Given the description of an element on the screen output the (x, y) to click on. 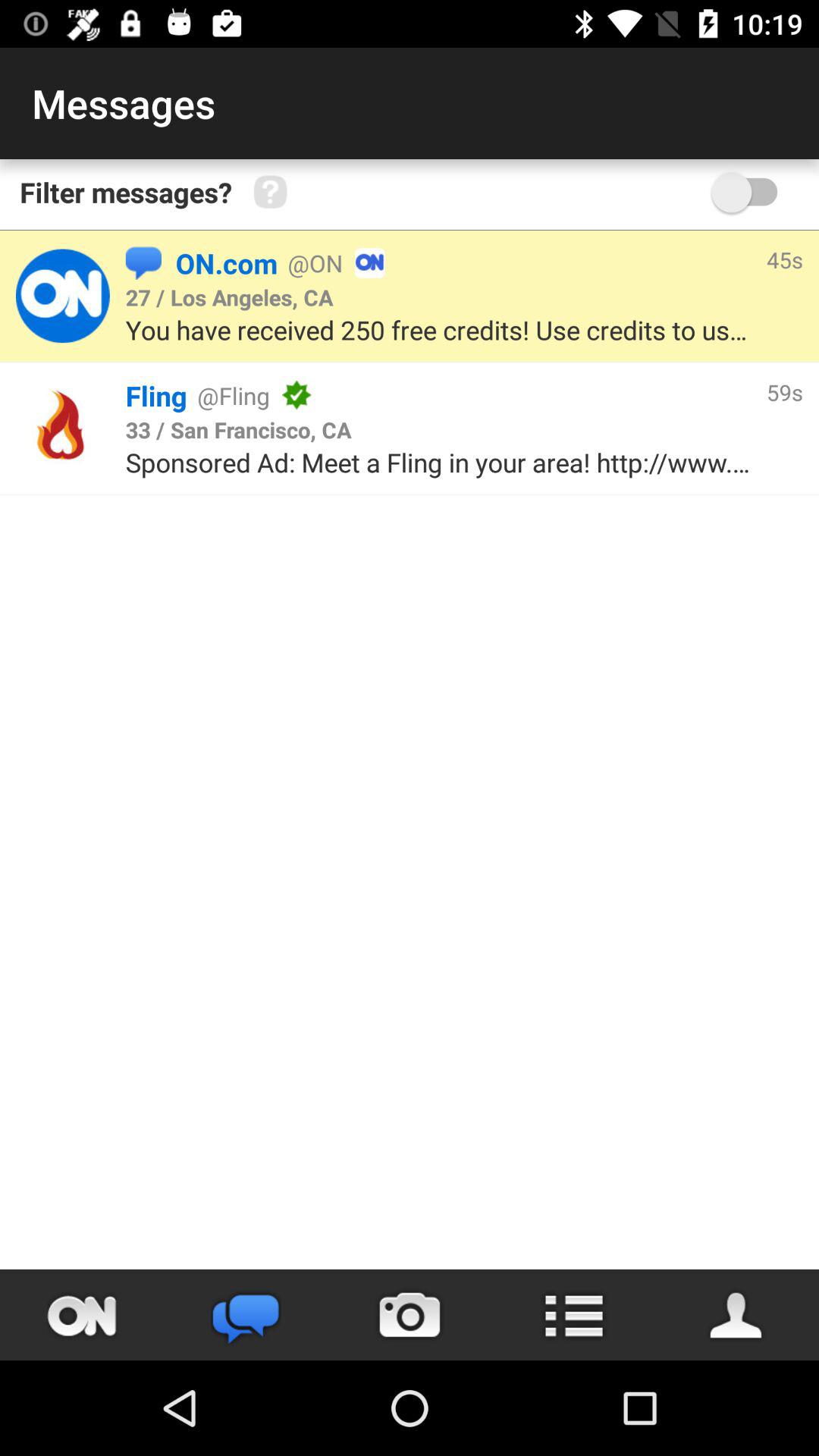
toggle chat message (81, 1315)
